Given the description of an element on the screen output the (x, y) to click on. 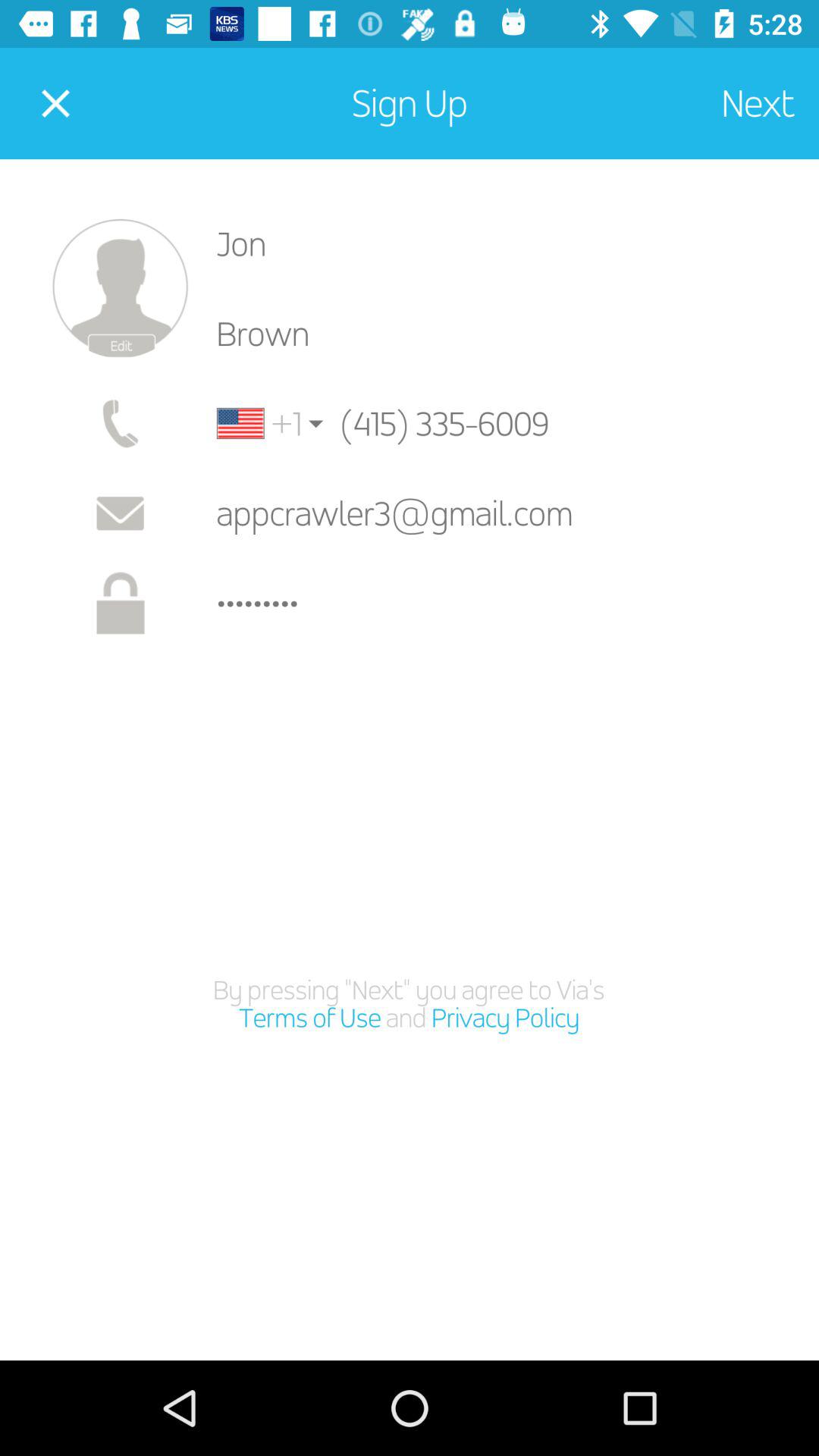
edit the profile image (119, 288)
